Given the description of an element on the screen output the (x, y) to click on. 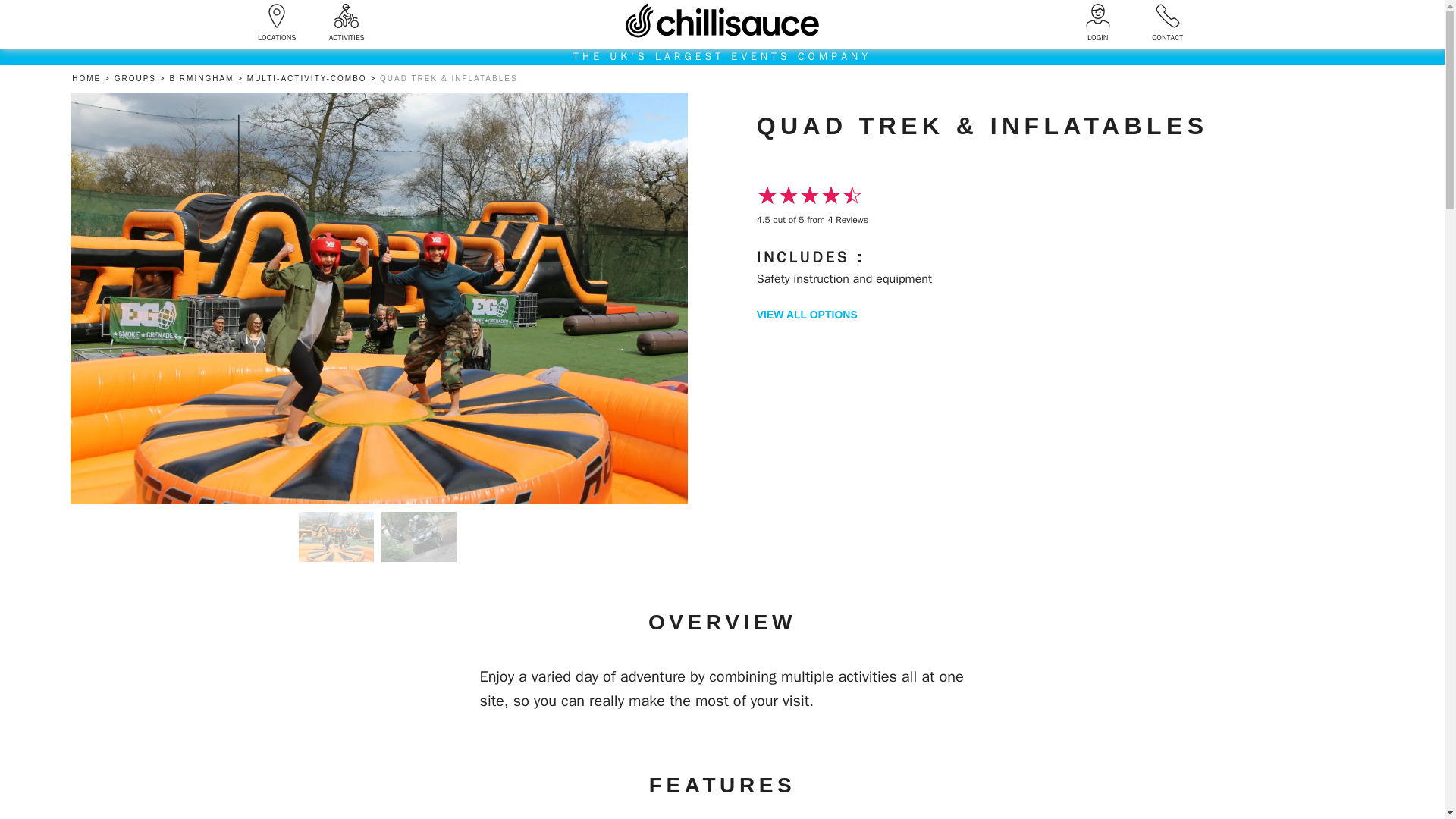
BIRMINGHAM (207, 78)
VIEW ALL OPTIONS (807, 314)
HOME (92, 78)
GROUPS (142, 78)
MULTI-ACTIVITY-COMBO (313, 78)
